Given the description of an element on the screen output the (x, y) to click on. 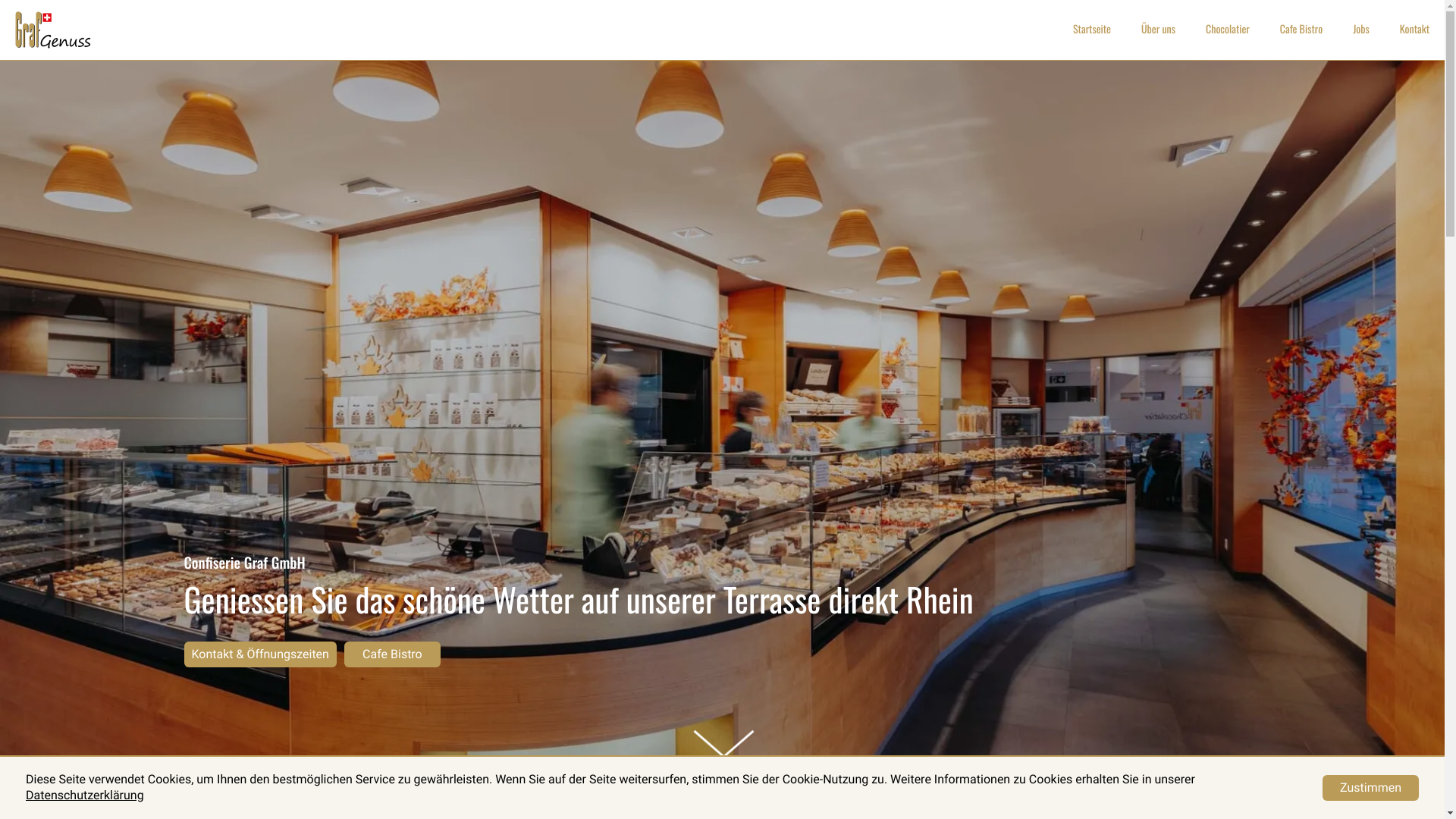
Jobs Element type: text (1360, 30)
Startseite Element type: text (1091, 30)
Kontakt Element type: text (1414, 30)
Chocolatier Element type: text (1227, 30)
Cafe Bistro Element type: text (392, 654)
Cafe Bistro Element type: text (1301, 30)
